Given the description of an element on the screen output the (x, y) to click on. 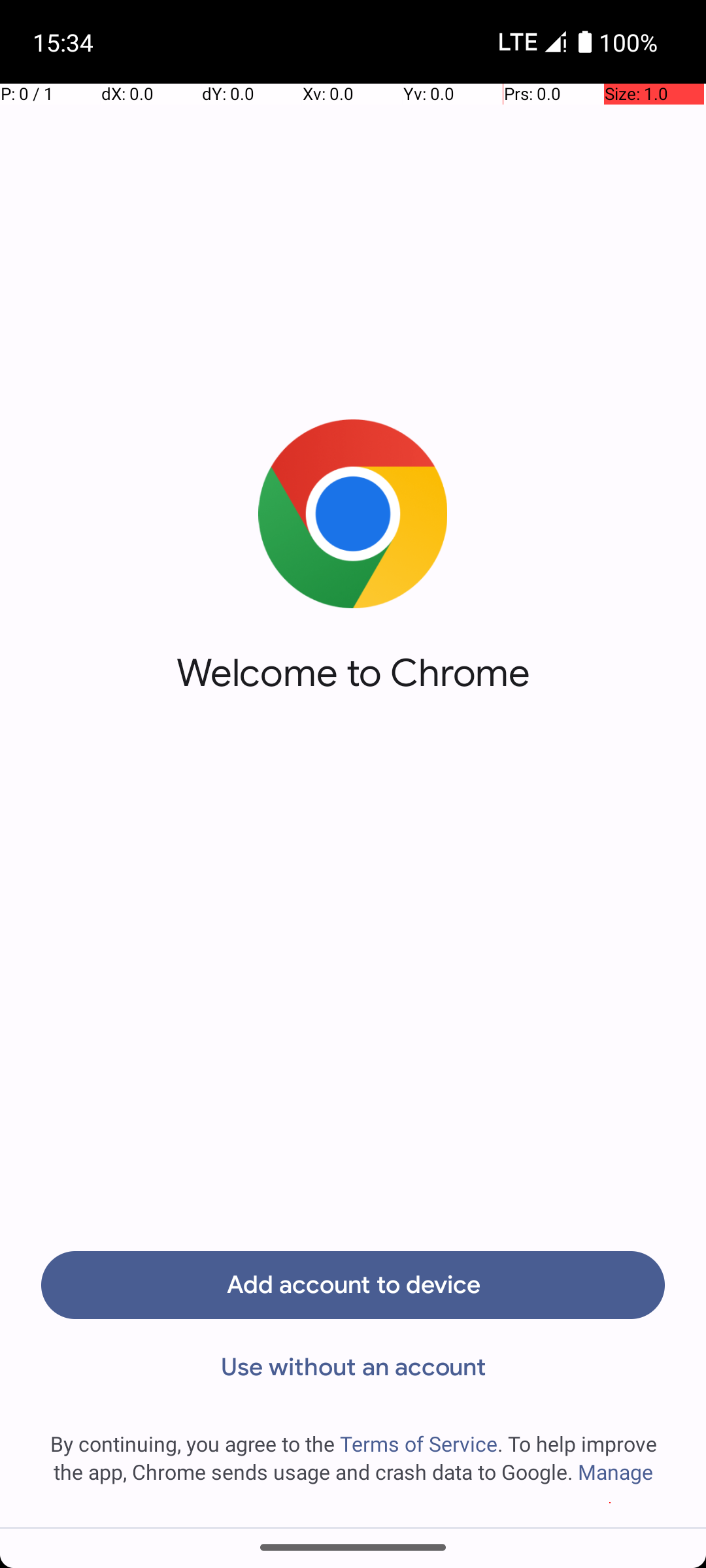
Add account to device Element type: android.widget.Button (352, 1284)
Use without an account Element type: android.widget.Button (352, 1367)
